Given the description of an element on the screen output the (x, y) to click on. 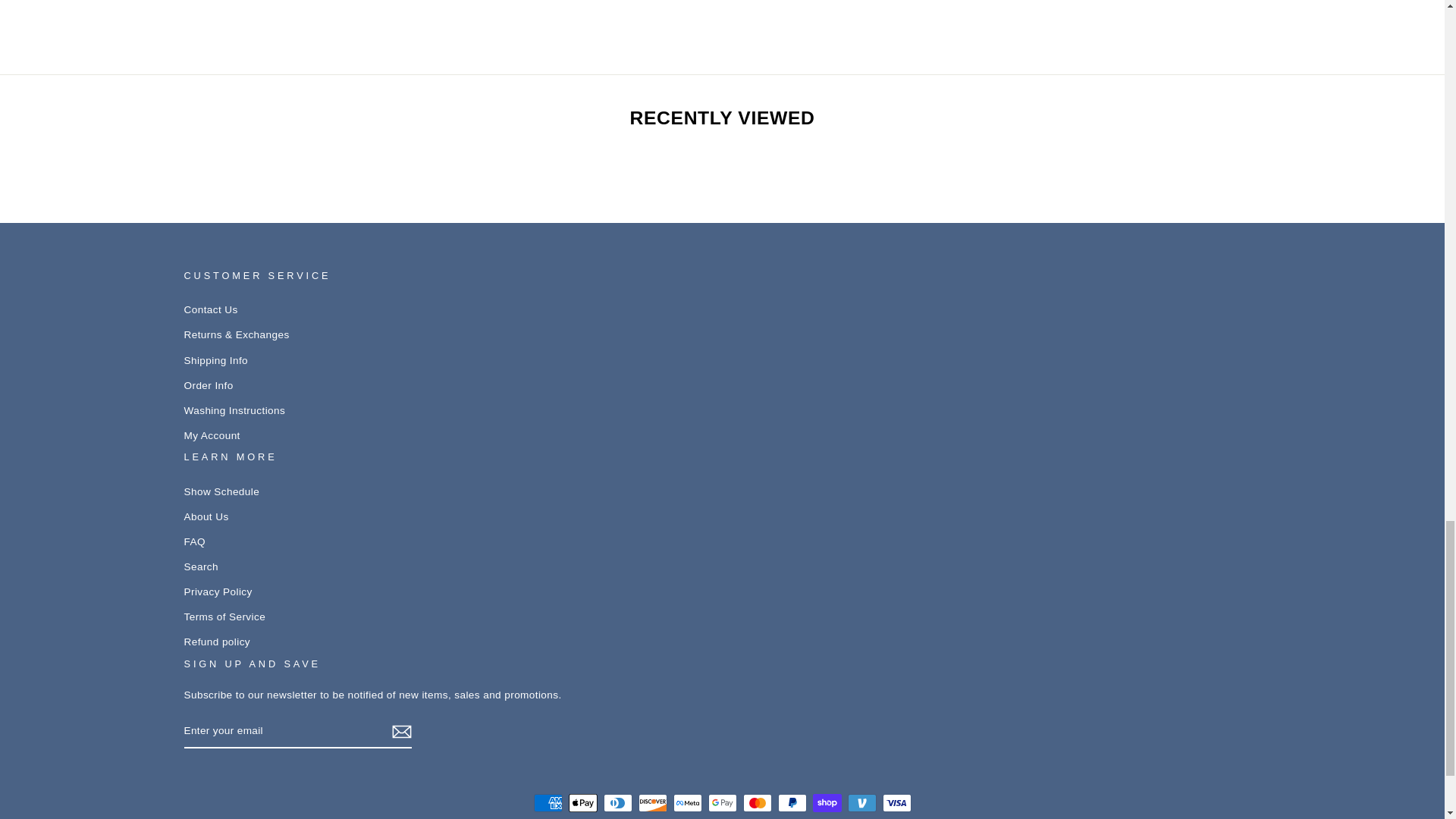
Meta Pay (686, 802)
American Express (548, 802)
Diners Club (617, 802)
PayPal (791, 802)
Google Pay (721, 802)
Apple Pay (582, 802)
Discover (652, 802)
Mastercard (756, 802)
